Given the description of an element on the screen output the (x, y) to click on. 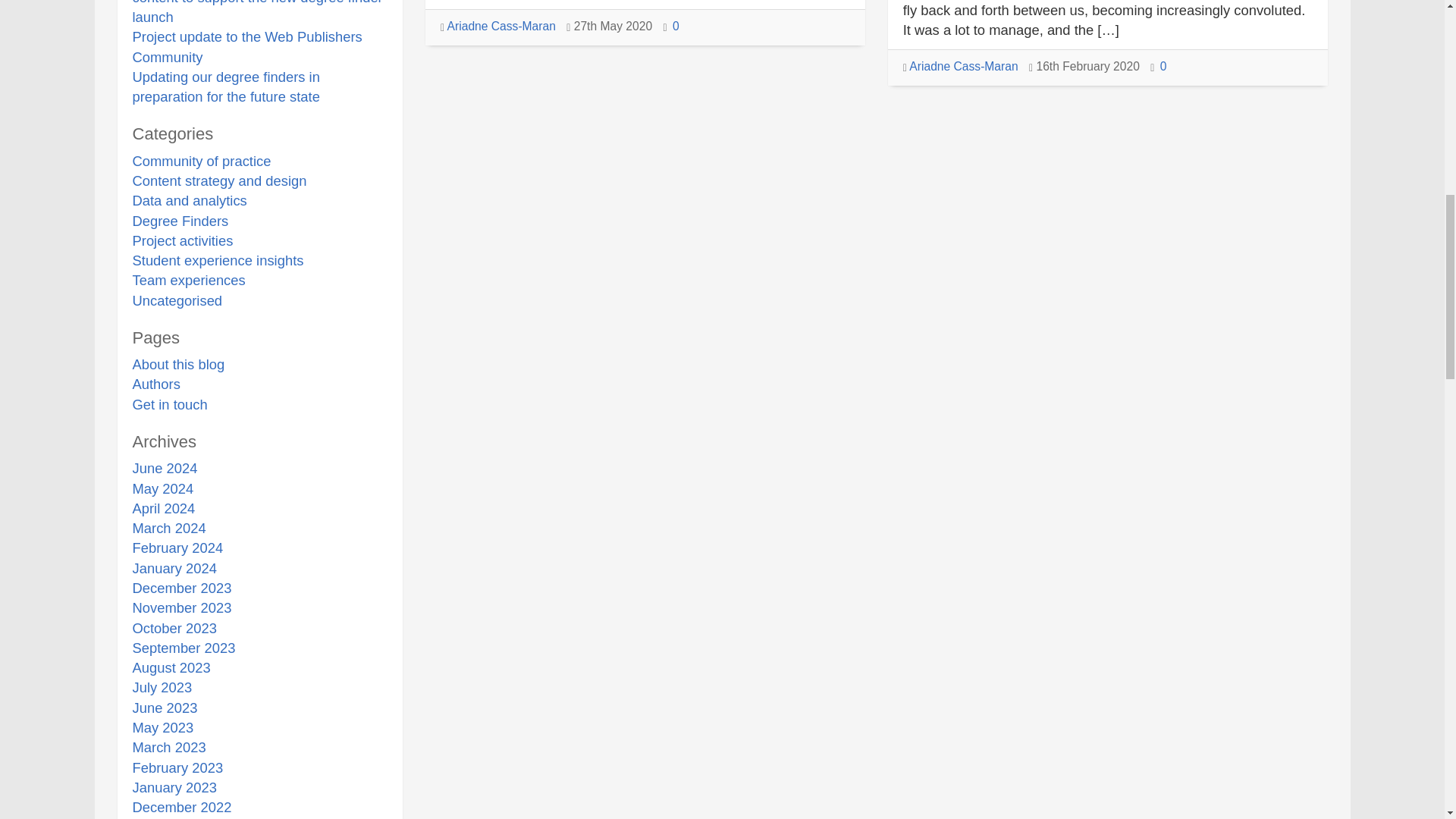
Uncategorised (177, 300)
February 2024 (177, 547)
Project activities (182, 240)
March 2024 (168, 528)
May 2024 (162, 488)
October 2023 (173, 627)
Content strategy and design (218, 180)
January 2023 (173, 787)
July 2023 (162, 687)
September 2023 (183, 647)
Degree Finders (180, 220)
Data and analytics (189, 200)
Authors (155, 383)
May 2023 (162, 727)
